Given the description of an element on the screen output the (x, y) to click on. 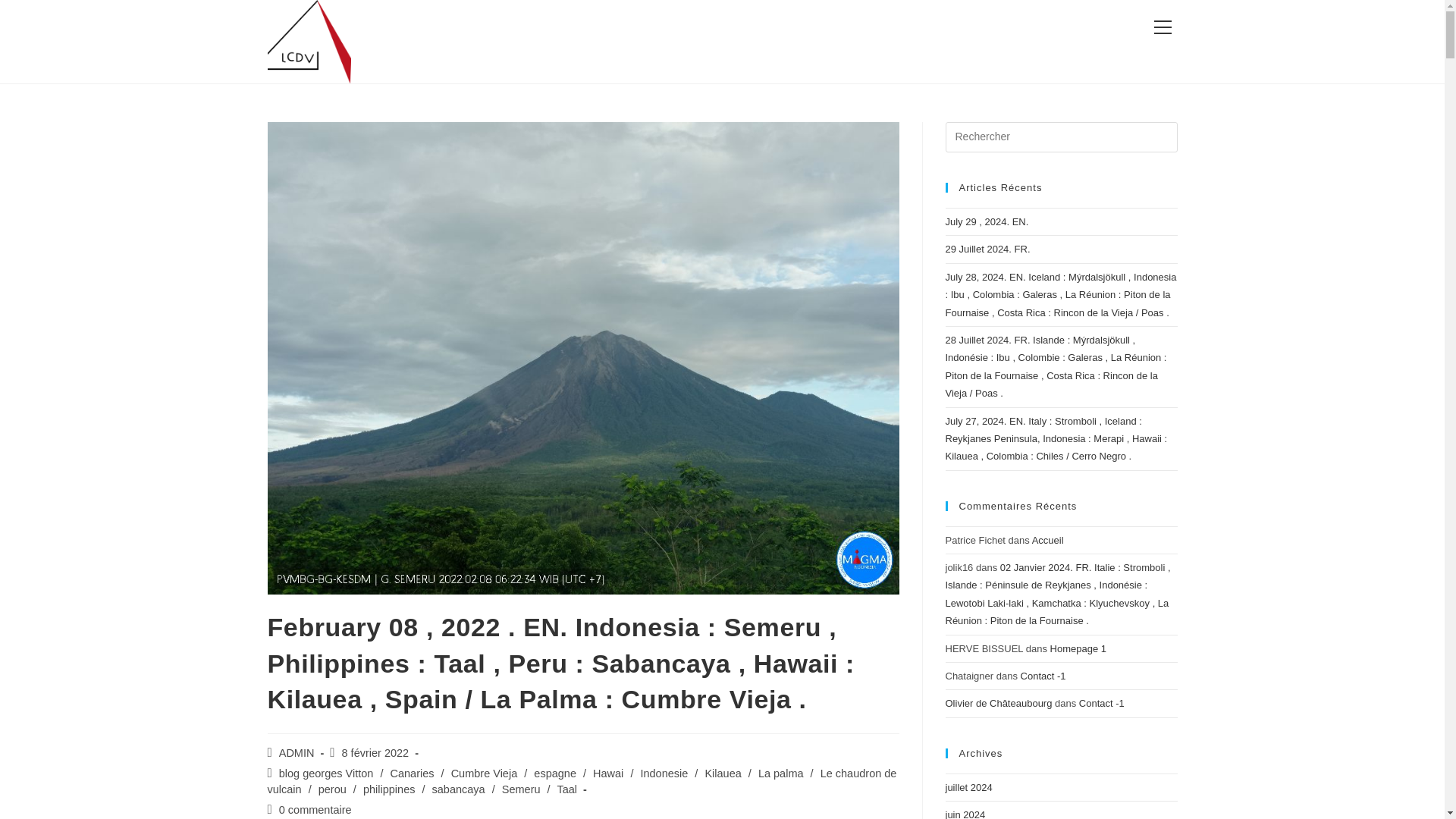
Indonesie (663, 773)
Taal (566, 788)
La palma (780, 773)
ADMIN (296, 752)
Canaries (411, 773)
0 commentaire (315, 809)
sabancaya (458, 788)
Semeru (521, 788)
Articles par ADMIN (296, 752)
Le chaudron de vulcain (581, 781)
Cumbre Vieja (484, 773)
Hawai (607, 773)
Kilauea (722, 773)
perou (332, 788)
blog georges Vitton (326, 773)
